Given the description of an element on the screen output the (x, y) to click on. 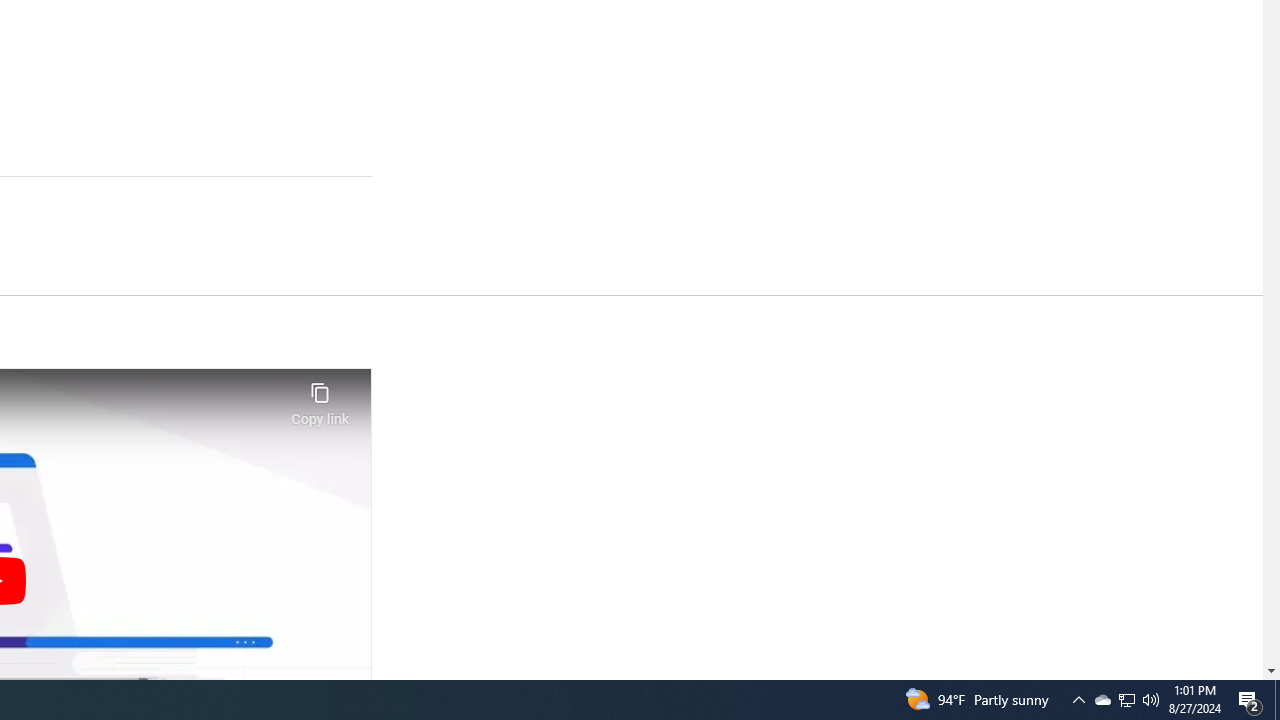
Copy link (319, 398)
